Given the description of an element on the screen output the (x, y) to click on. 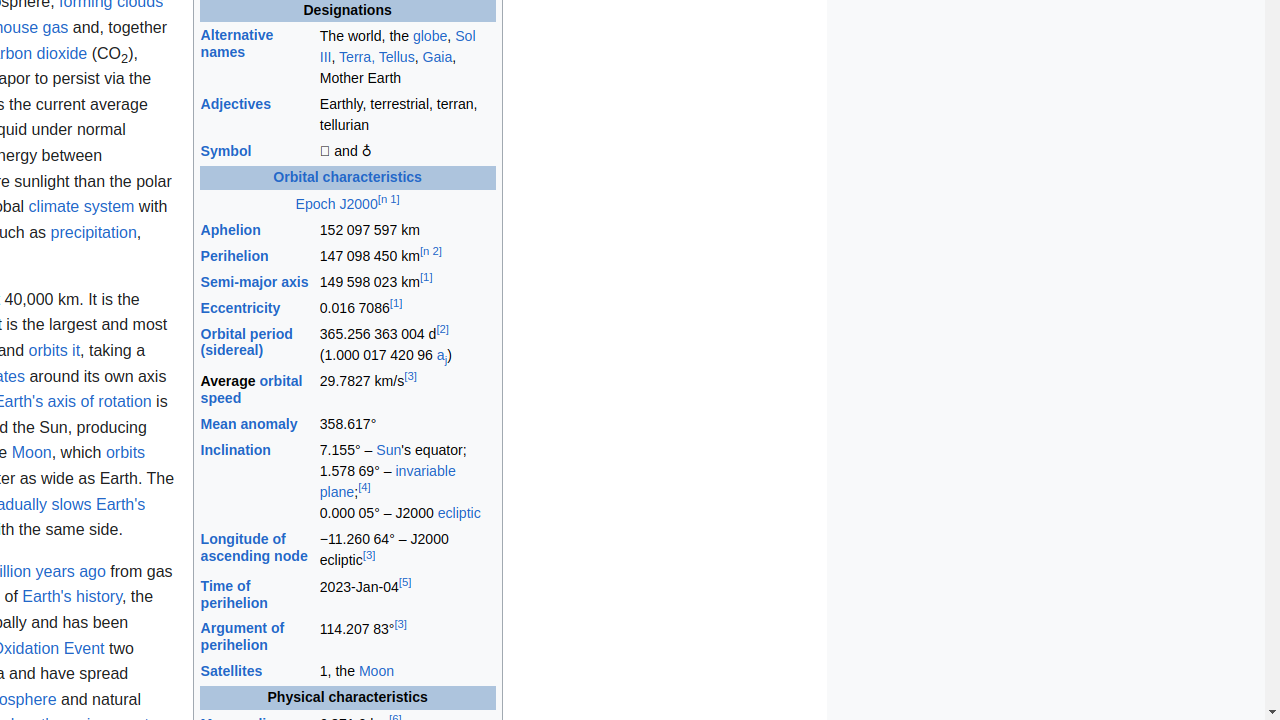
1, the Moon Element type: table-cell (407, 672)
Epoch Element type: link (315, 203)
The world, the globe, Sol III, Terra, Tellus, Gaia, Mother Earth Element type: table-cell (407, 57)
a Element type: link (440, 355)
[4] Element type: link (364, 487)
